Given the description of an element on the screen output the (x, y) to click on. 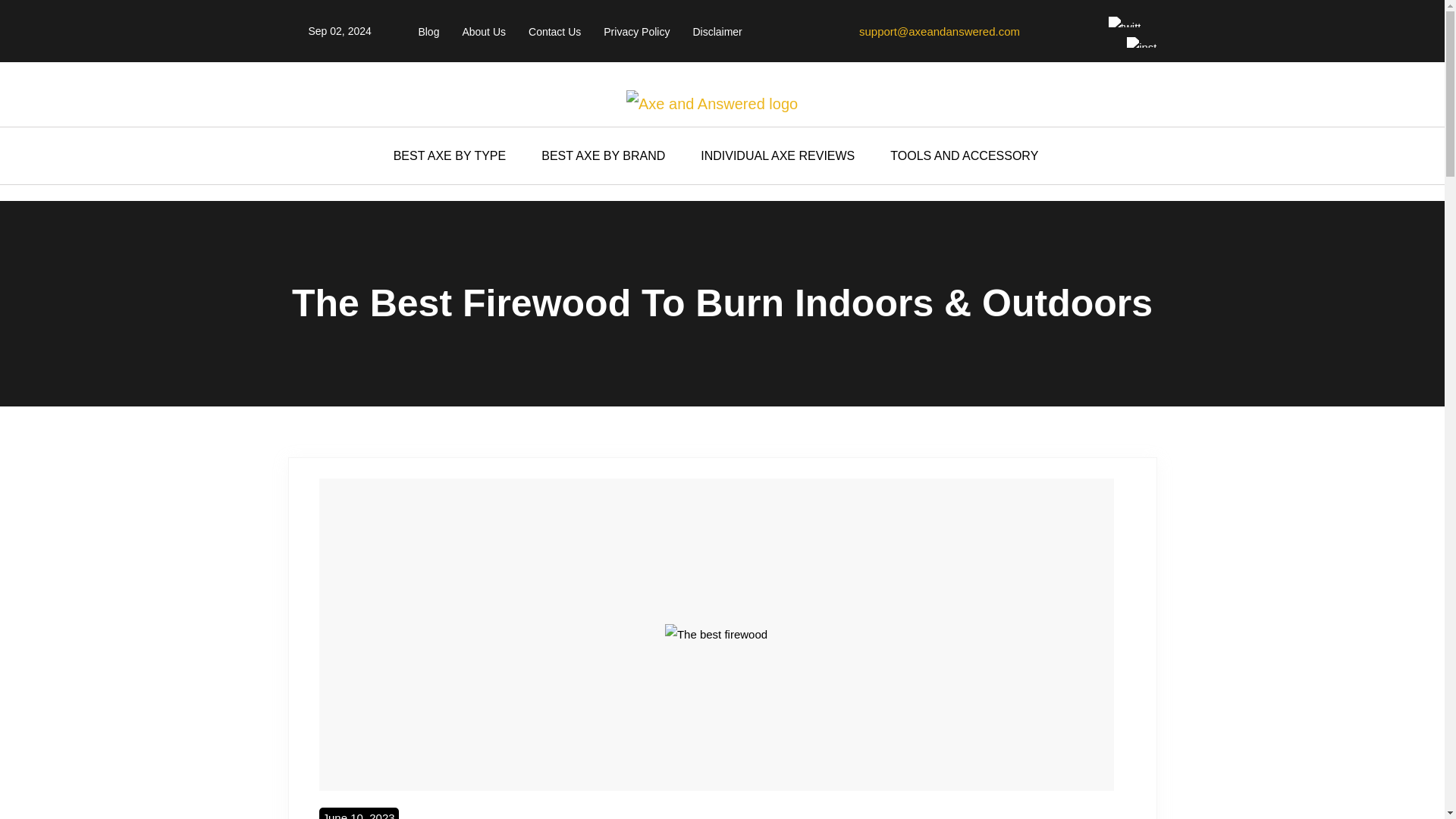
BEST AXE BY BRAND (609, 155)
TOOLS AND ACCESSORY (970, 155)
INDIVIDUAL AXE REVIEWS (783, 155)
Blog (428, 31)
About Us (483, 31)
Privacy Policy (636, 31)
Disclaimer (717, 31)
BEST AXE BY TYPE (456, 155)
Contact Us (554, 31)
